Given the description of an element on the screen output the (x, y) to click on. 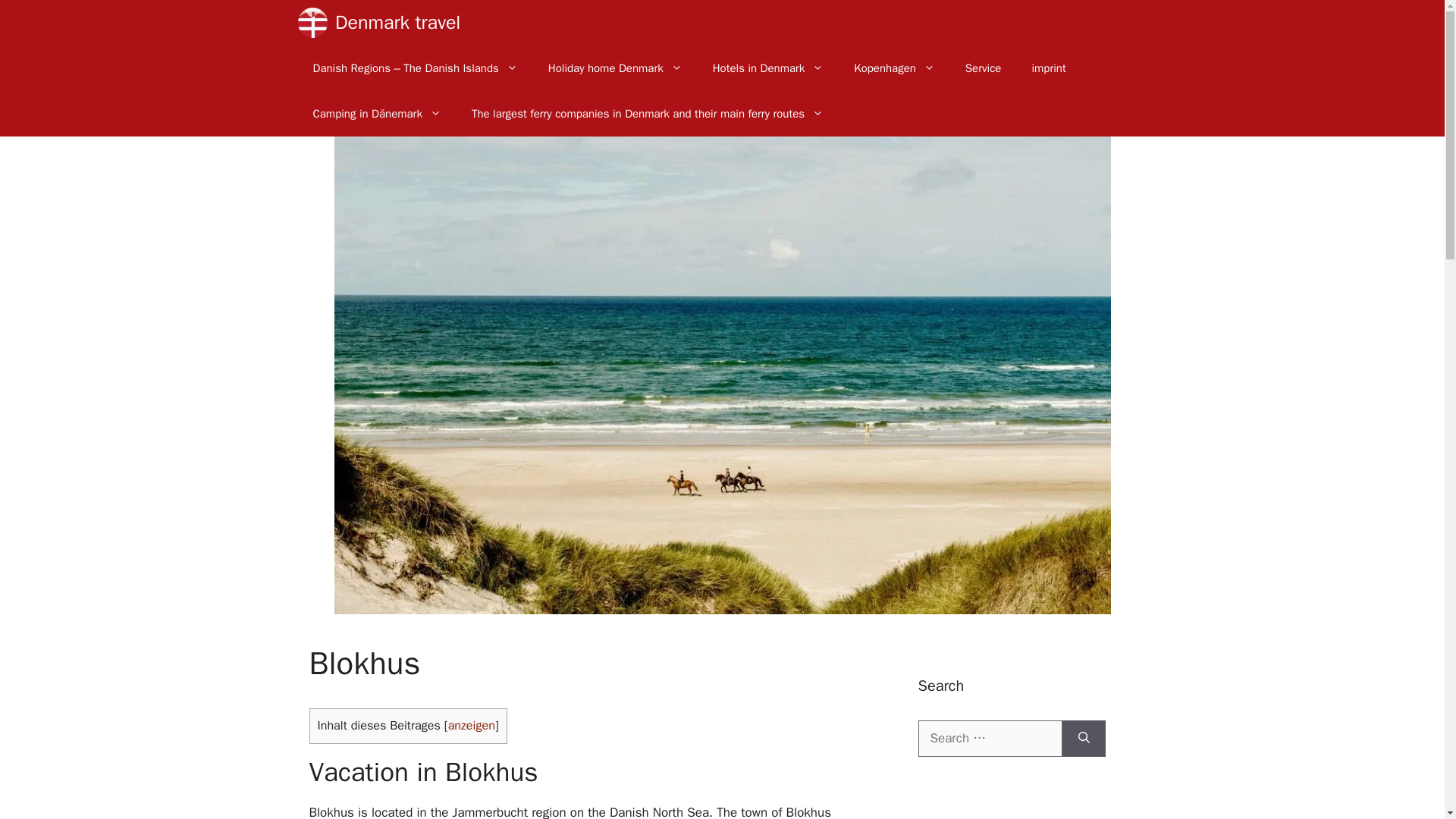
Search for: (989, 738)
Denmark travel (397, 22)
Holiday home Denmark (614, 67)
